Given the description of an element on the screen output the (x, y) to click on. 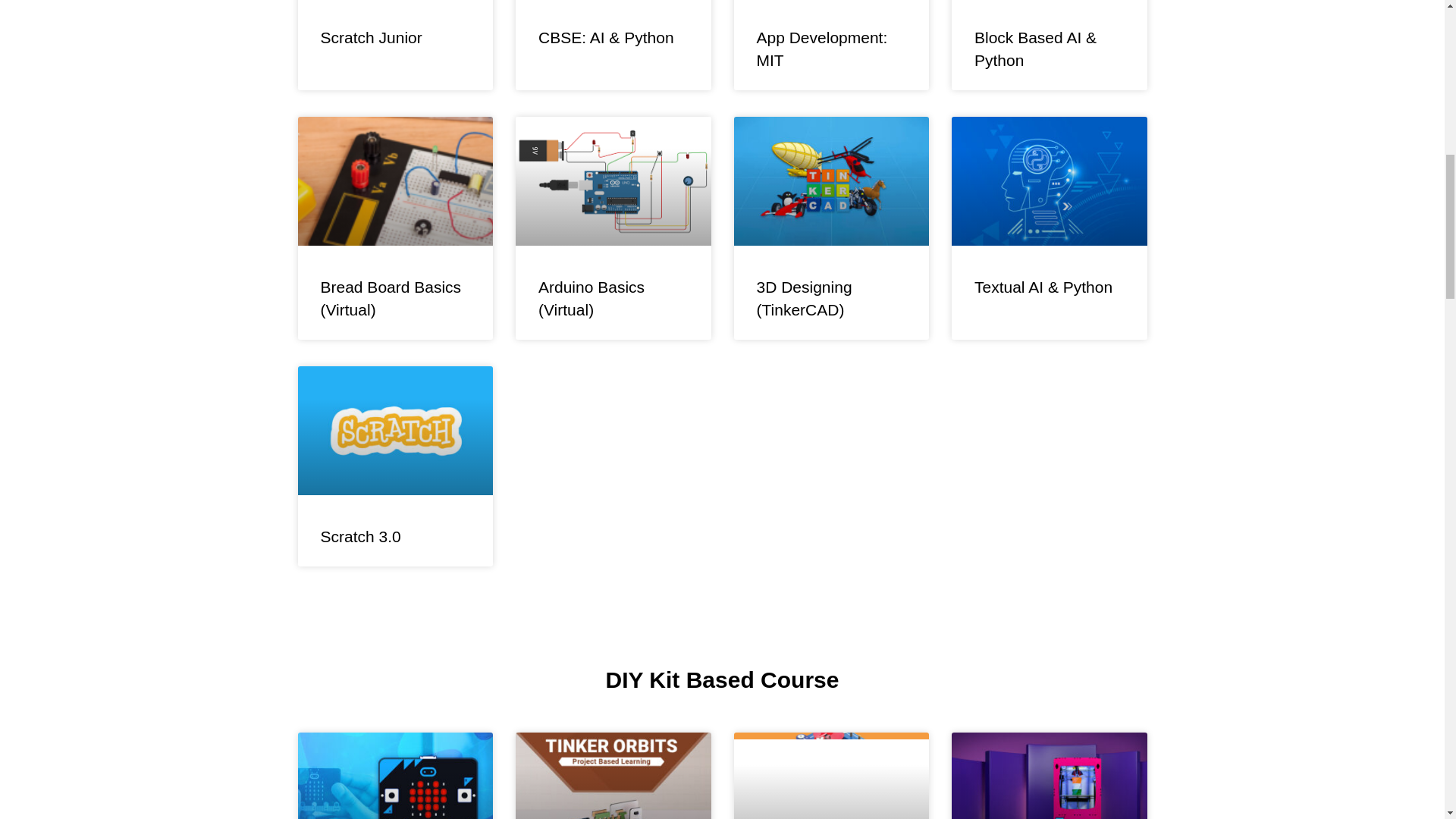
Scratch Junior (371, 36)
Scratch 3.0 (360, 536)
App Development: MIT (822, 47)
